Given the description of an element on the screen output the (x, y) to click on. 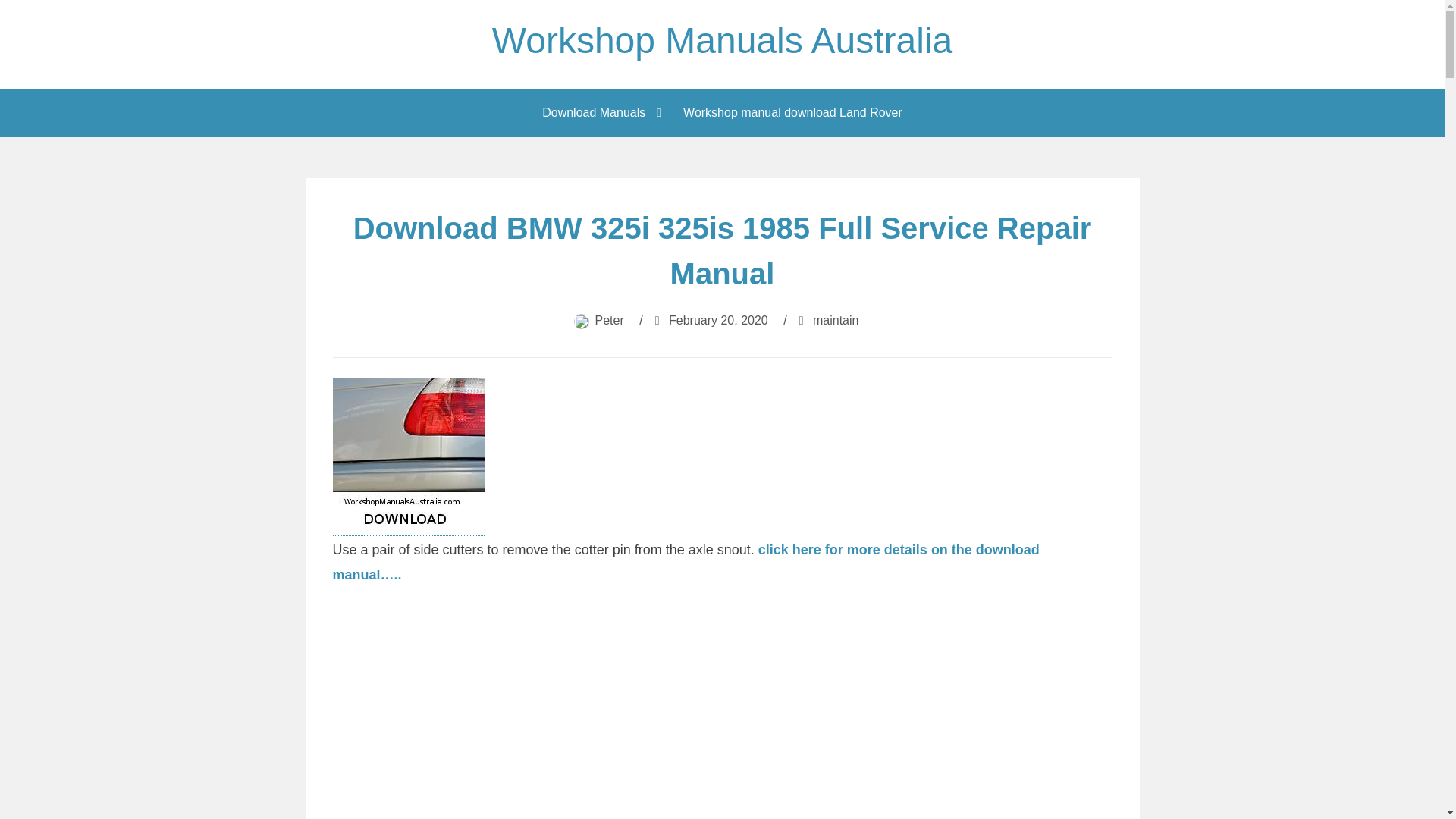
February 20, 2020 (718, 319)
Workshop manual download Land Rover (792, 112)
Workshop Manuals Australia (722, 40)
maintain (835, 319)
Peter (609, 319)
Download Manuals (597, 112)
